Given the description of an element on the screen output the (x, y) to click on. 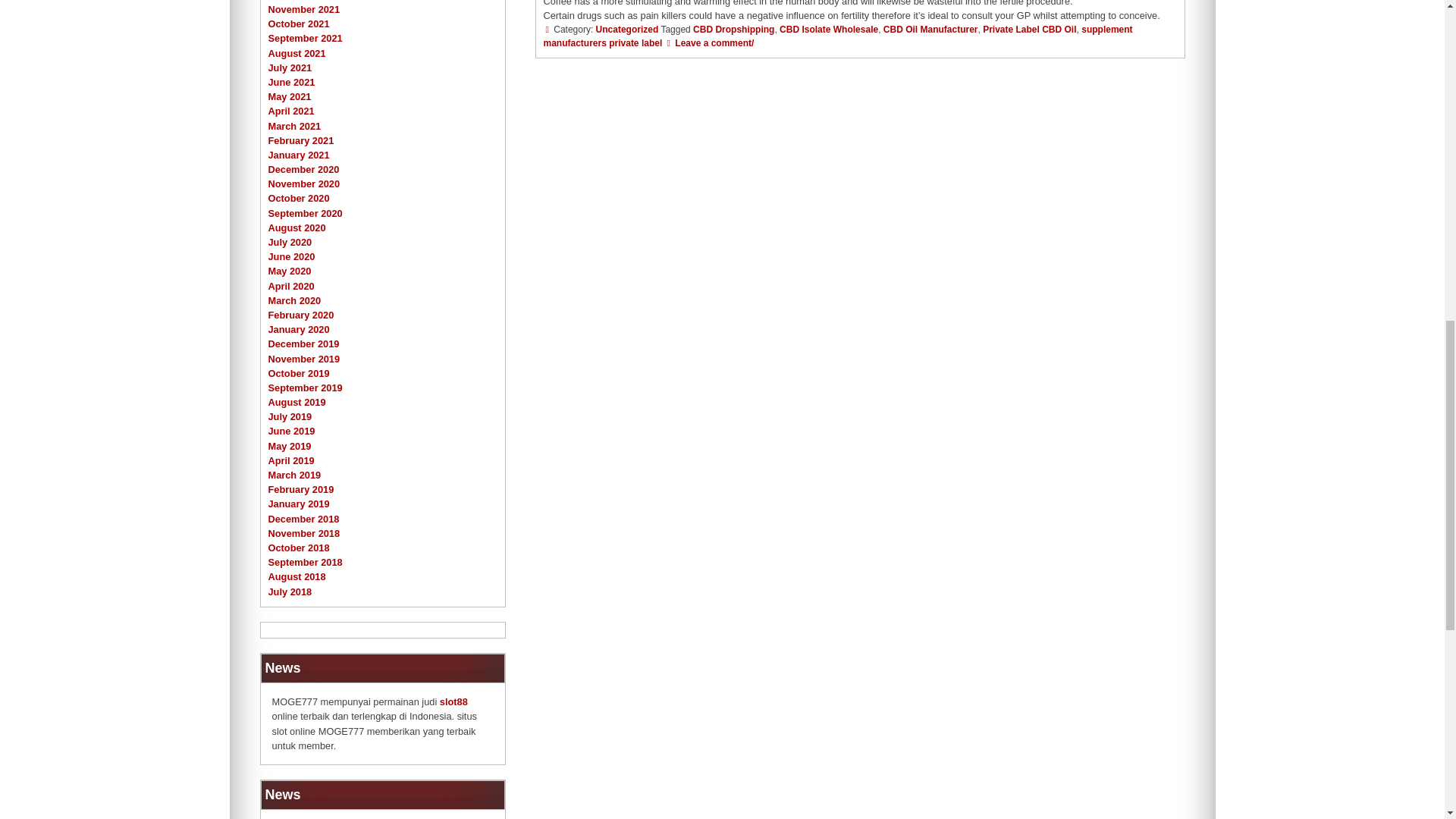
Private Label CBD Oil (1028, 29)
CBD Oil Manufacturer (930, 29)
CBD Dropshipping (733, 29)
Uncategorized (627, 29)
CBD Isolate Wholesale (827, 29)
supplement manufacturers private label (837, 36)
